Given the description of an element on the screen output the (x, y) to click on. 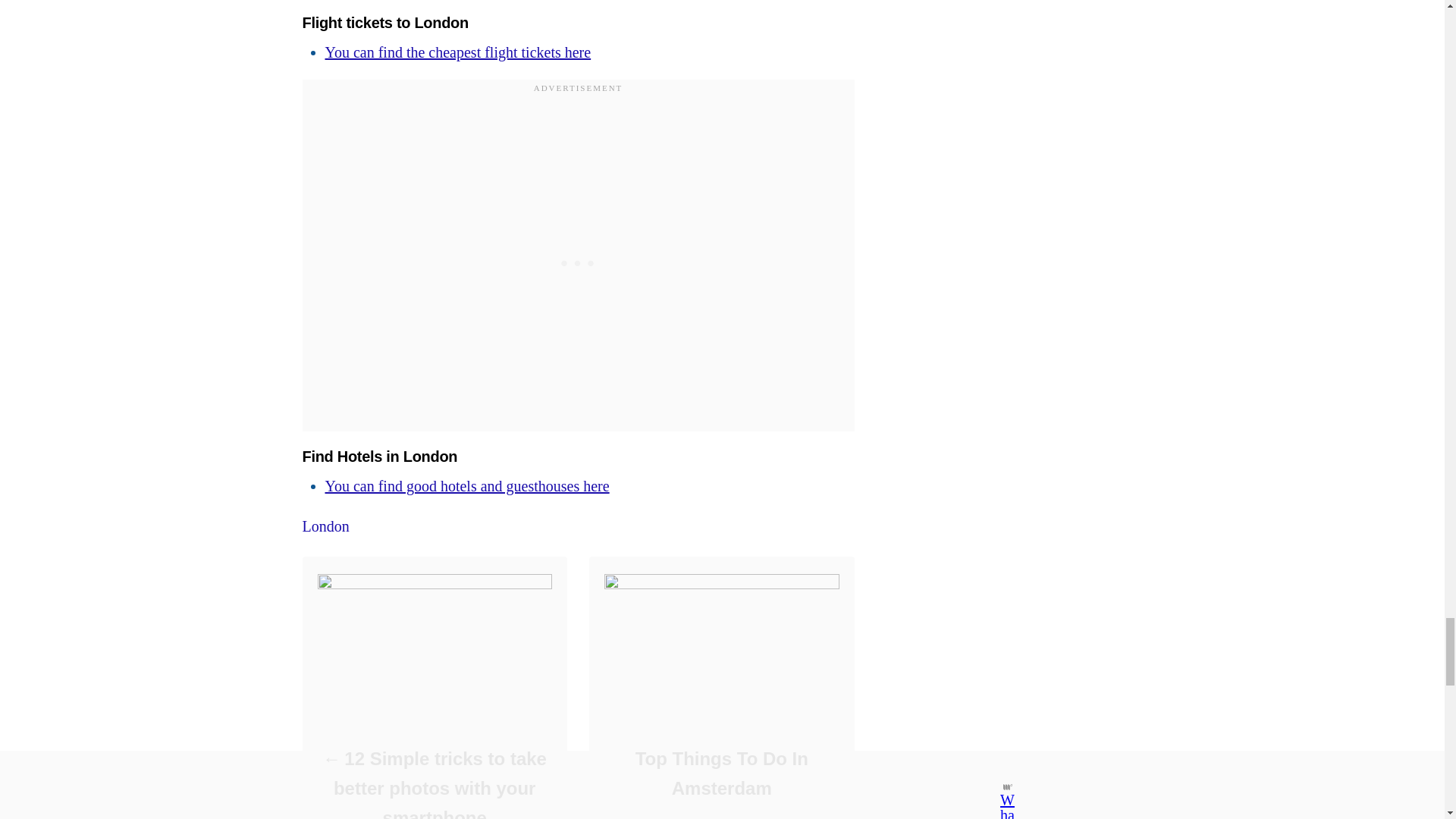
You can find good hotels and guesthouses here (466, 485)
You can find the cheapest flight tickets here (457, 52)
